Given the description of an element on the screen output the (x, y) to click on. 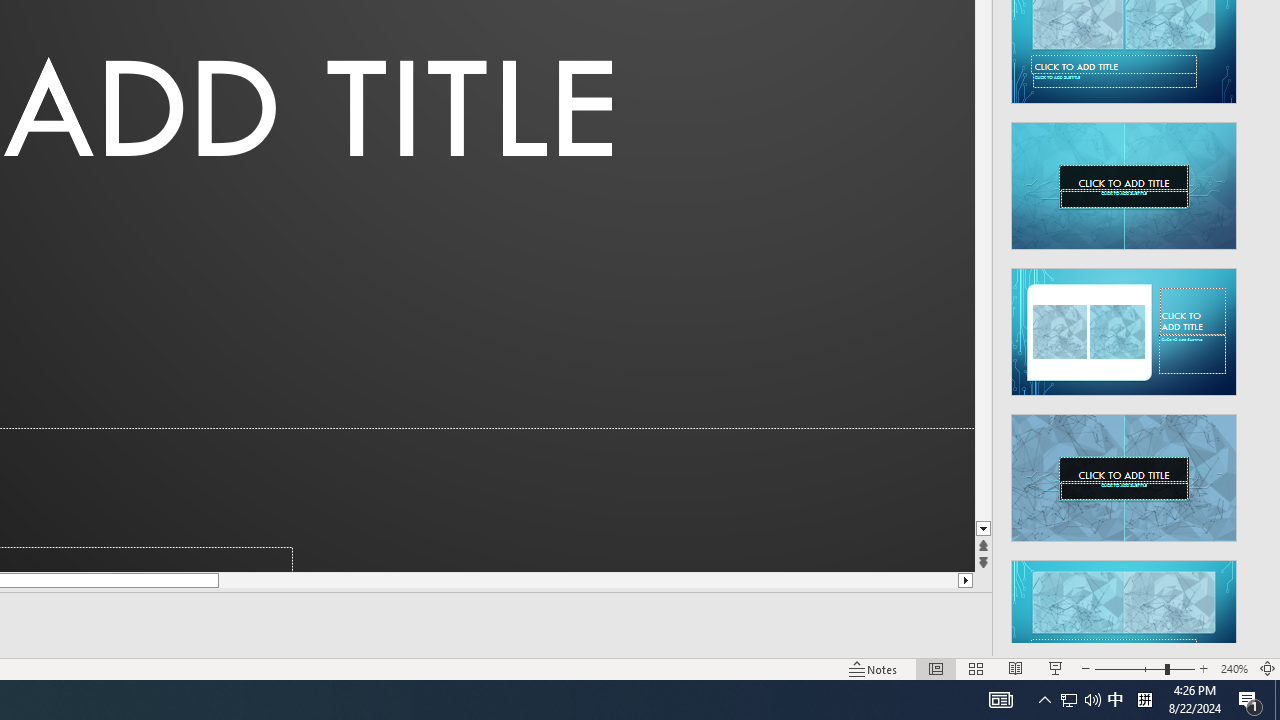
Zoom 240% (1234, 668)
Design Idea (1124, 618)
Class: NetUIImage (1124, 623)
Zoom to Fit  (1267, 668)
Notes  (874, 668)
